Given the description of an element on the screen output the (x, y) to click on. 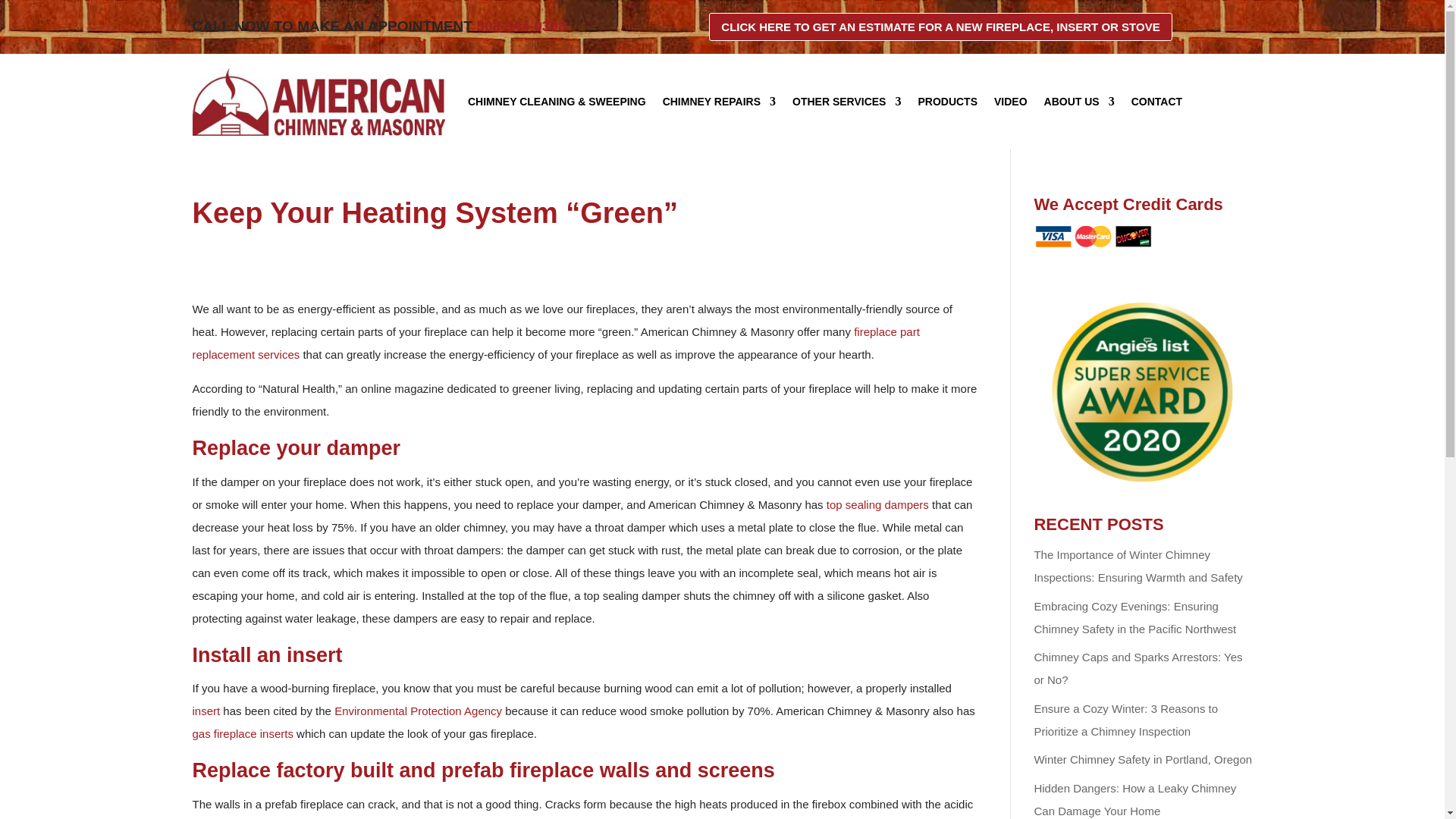
CHIMNEY REPAIRS (719, 101)
503-644-0393 (521, 26)
ABOUT US (1079, 101)
OTHER SERVICES (846, 101)
